Given the description of an element on the screen output the (x, y) to click on. 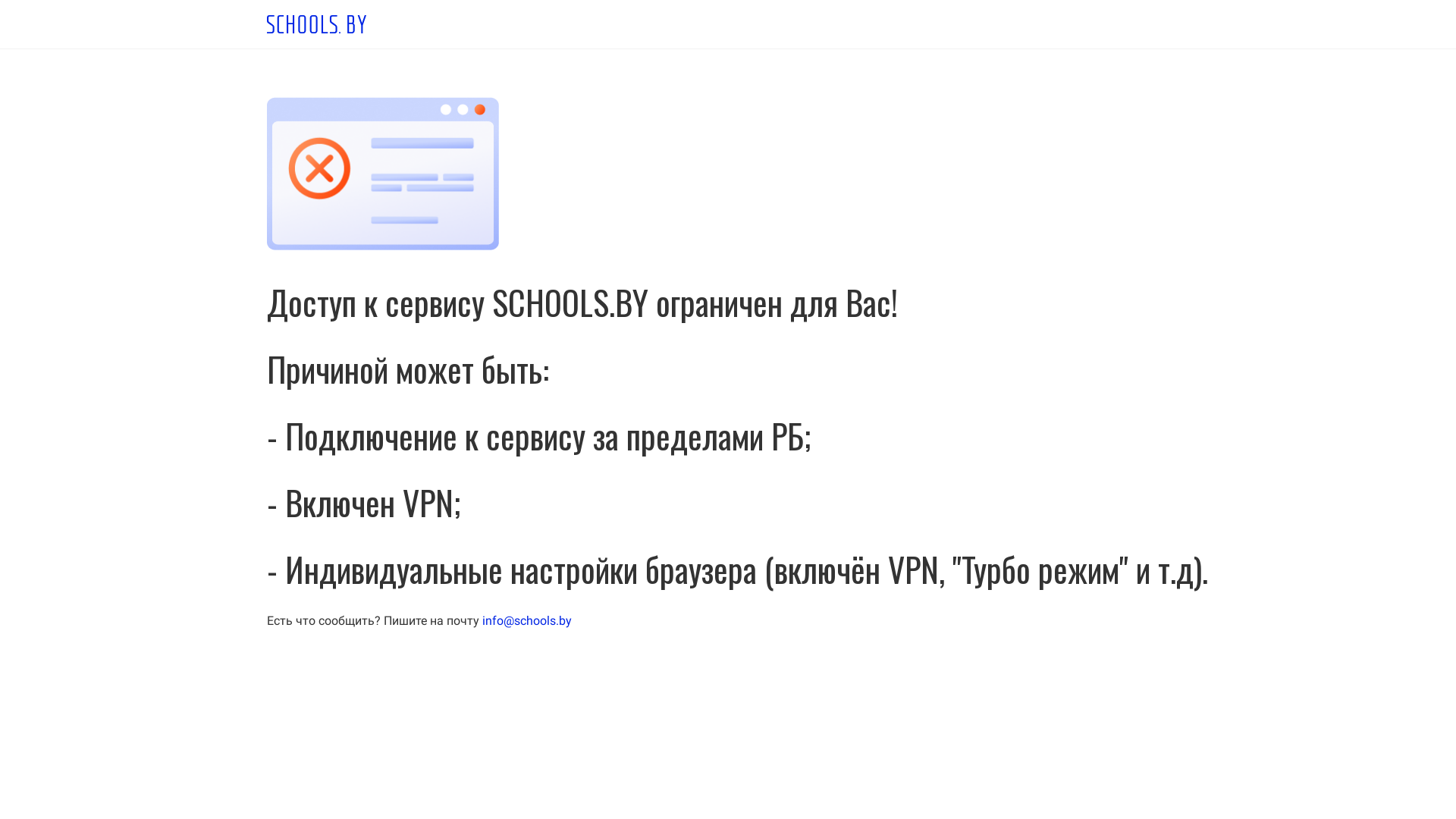
info@schools.by Element type: text (526, 620)
